Given the description of an element on the screen output the (x, y) to click on. 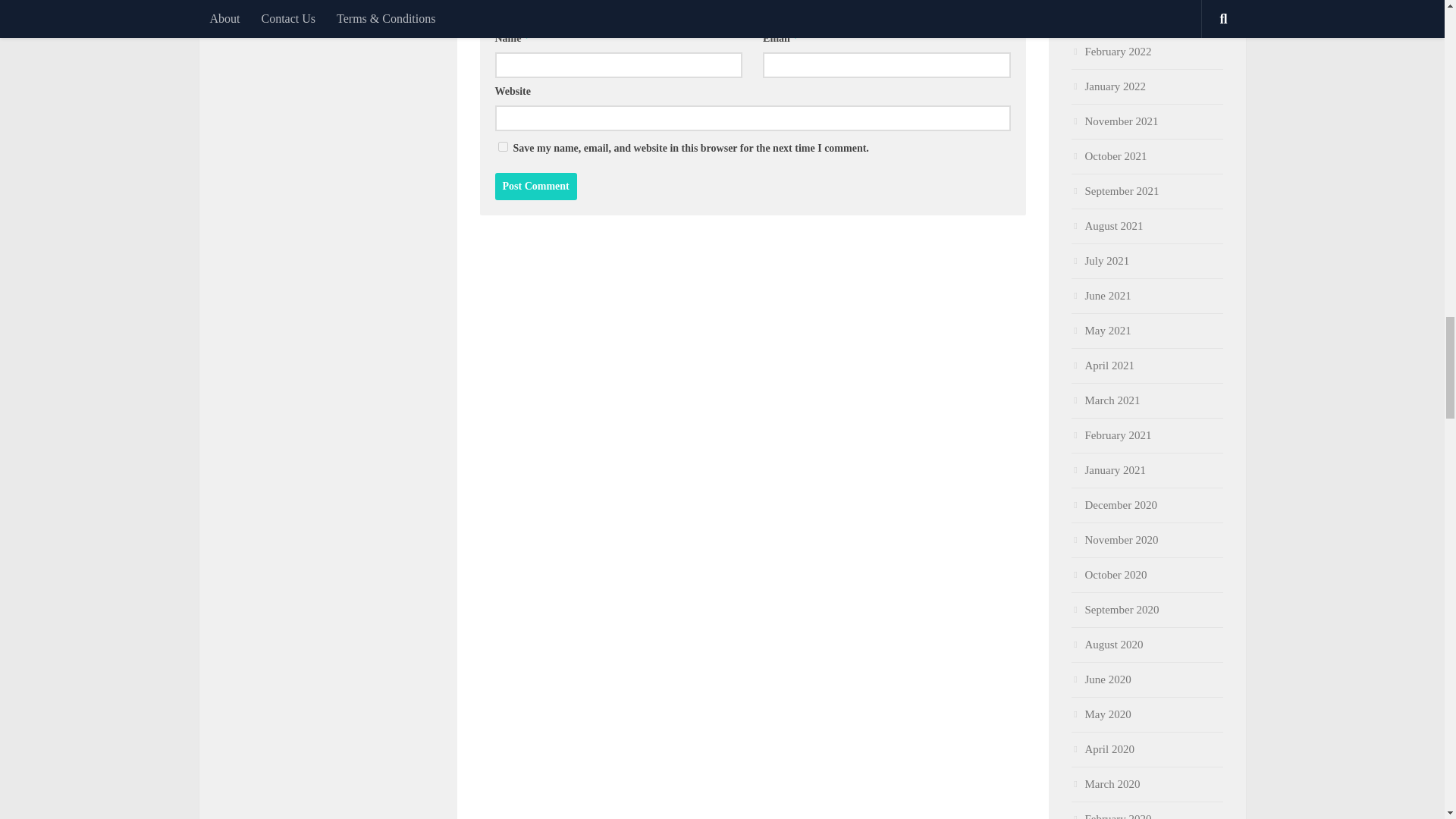
Post Comment (535, 185)
yes (501, 146)
